Given the description of an element on the screen output the (x, y) to click on. 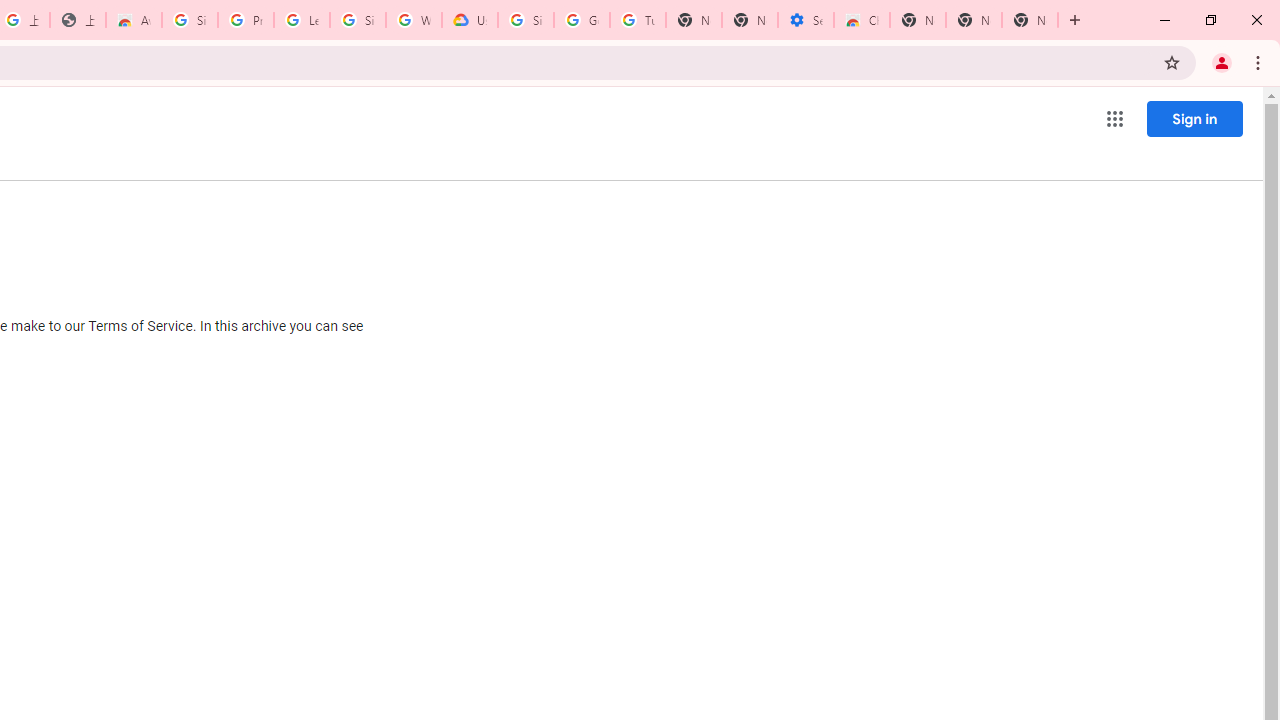
New Tab (917, 20)
Turn cookies on or off - Computer - Google Account Help (637, 20)
Who are Google's partners? - Privacy and conditions - Google (413, 20)
